Given the description of an element on the screen output the (x, y) to click on. 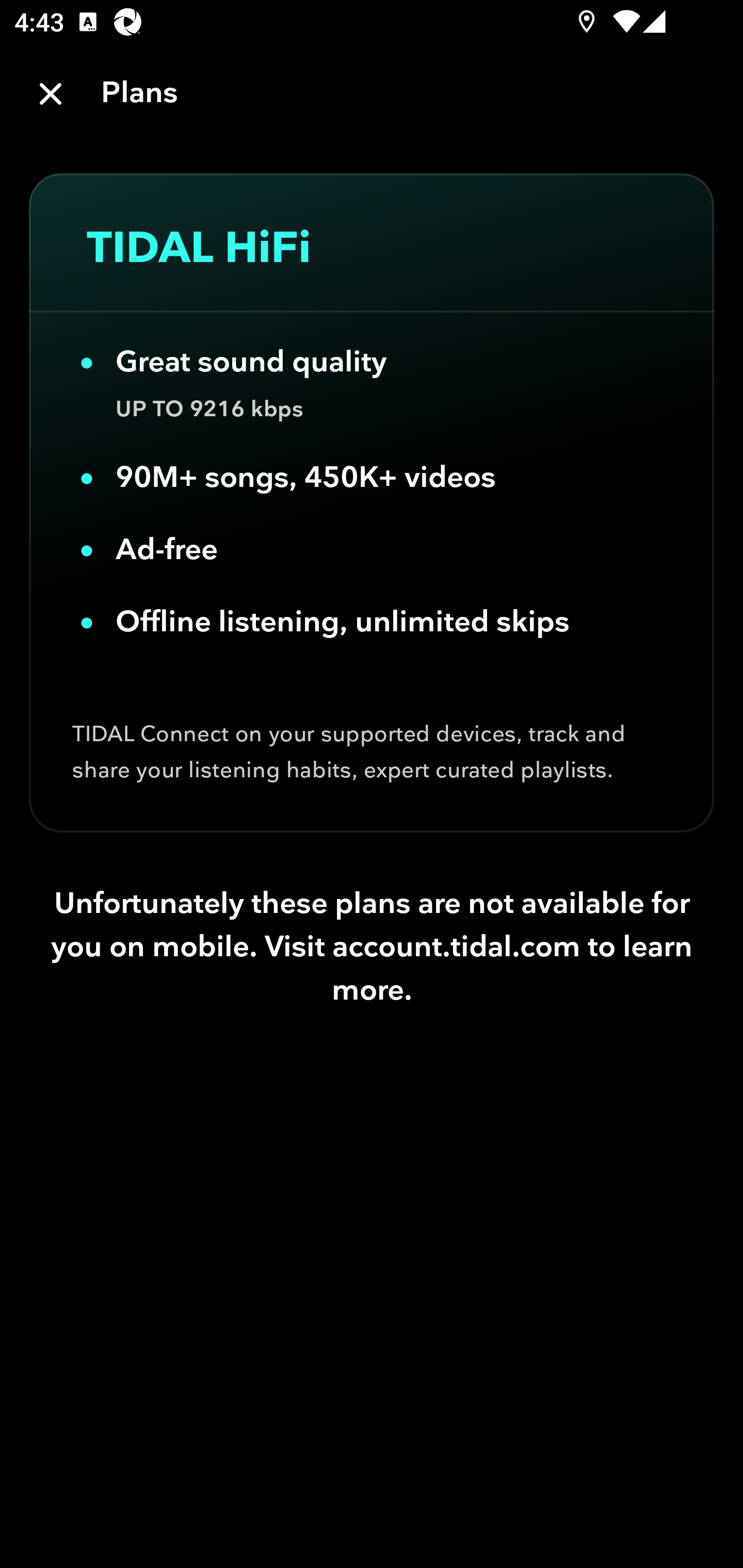
Close (50, 93)
